Given the description of an element on the screen output the (x, y) to click on. 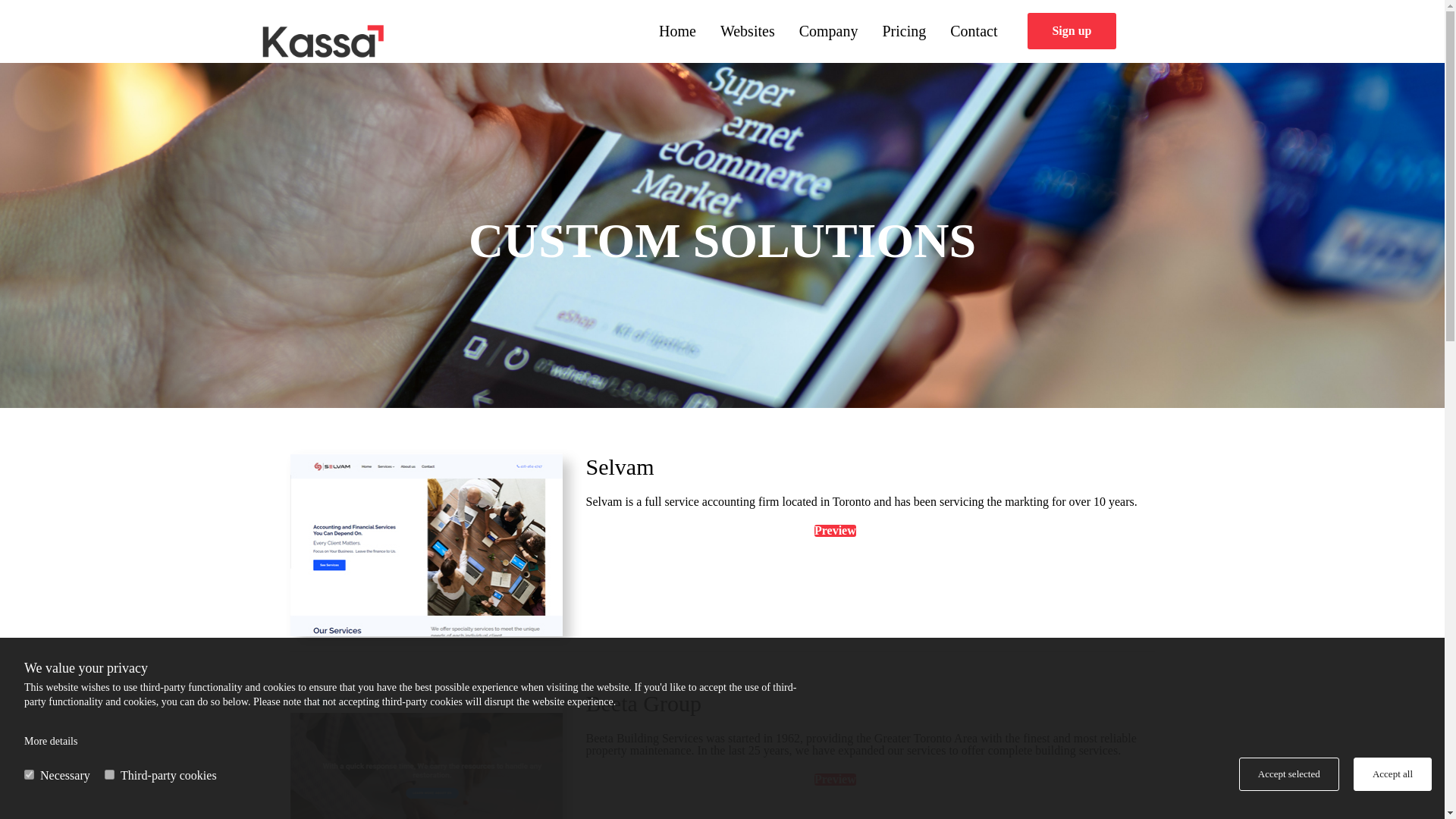
Preview (834, 530)
Accept selected (1289, 774)
Contact (973, 31)
Pricing (903, 31)
Company (828, 31)
More details (50, 740)
on (109, 774)
Sign up (1071, 31)
Preview (834, 779)
Websites (747, 31)
on (28, 774)
Home (676, 31)
Accept all (1392, 774)
